Given the description of an element on the screen output the (x, y) to click on. 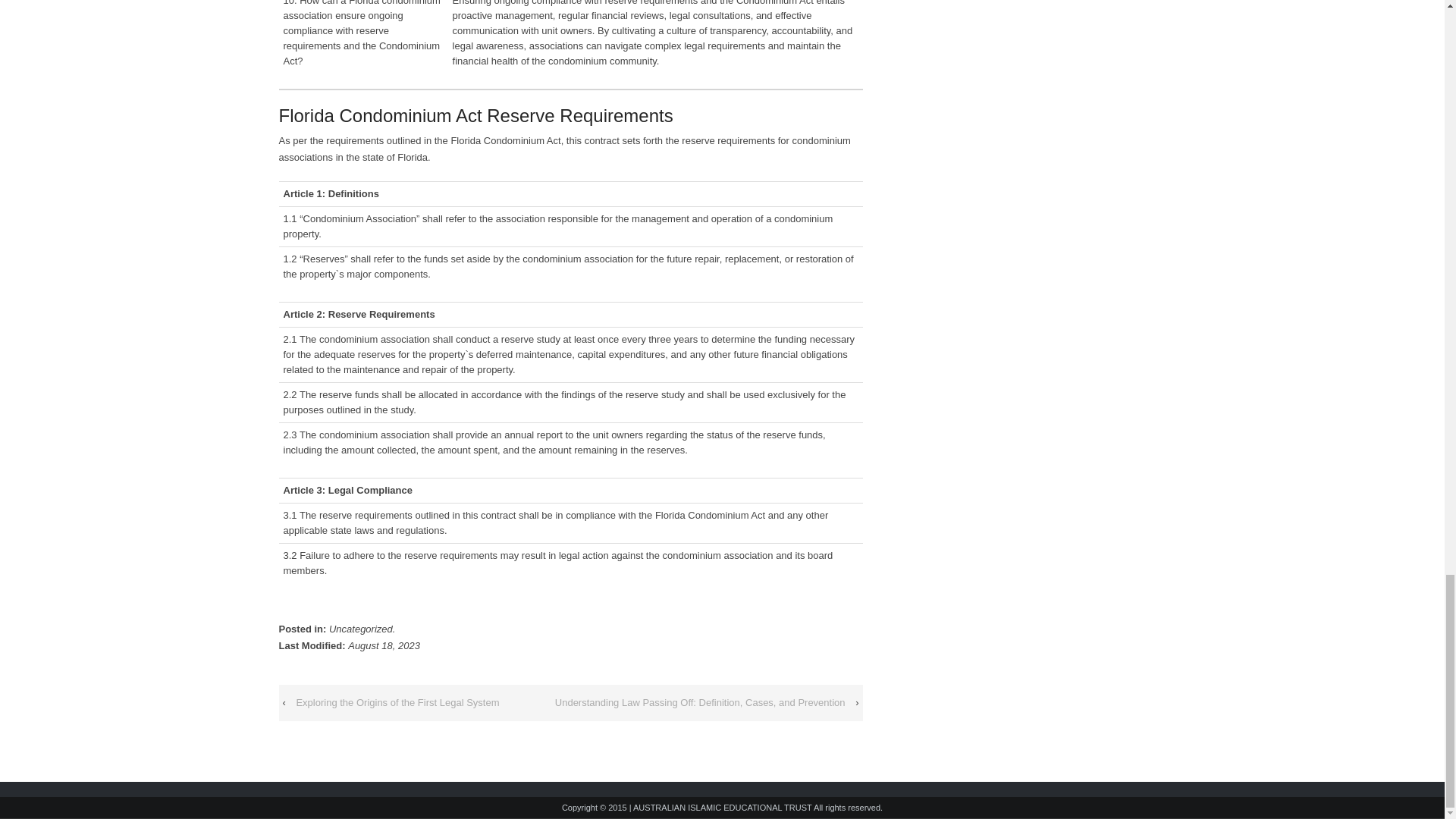
Exploring the Origins of the First Legal System (397, 702)
